Given the description of an element on the screen output the (x, y) to click on. 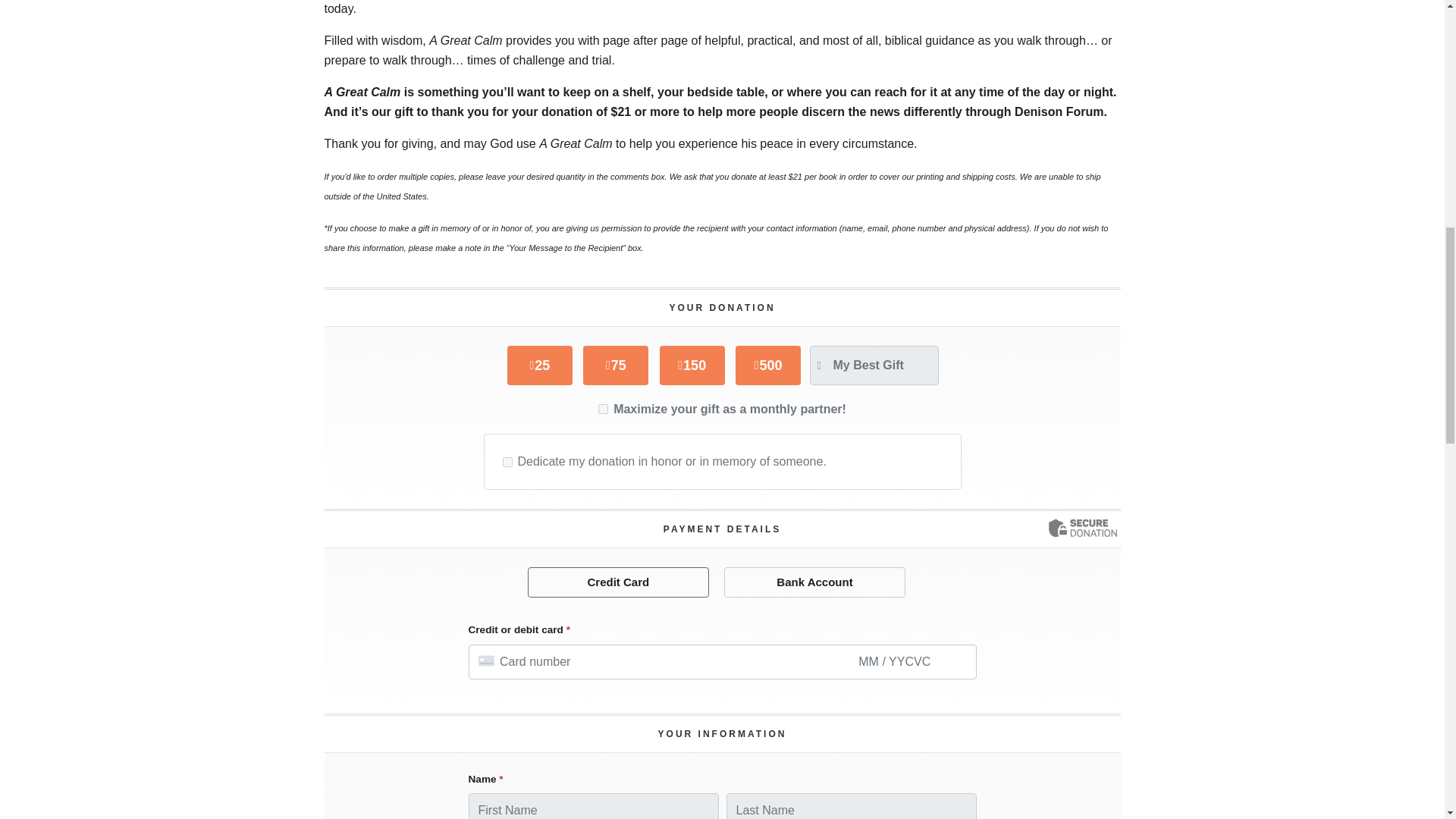
Credit Card (618, 582)
on (603, 409)
Bank Account (814, 582)
Secure card payment input frame (721, 661)
on (507, 461)
